Given the description of an element on the screen output the (x, y) to click on. 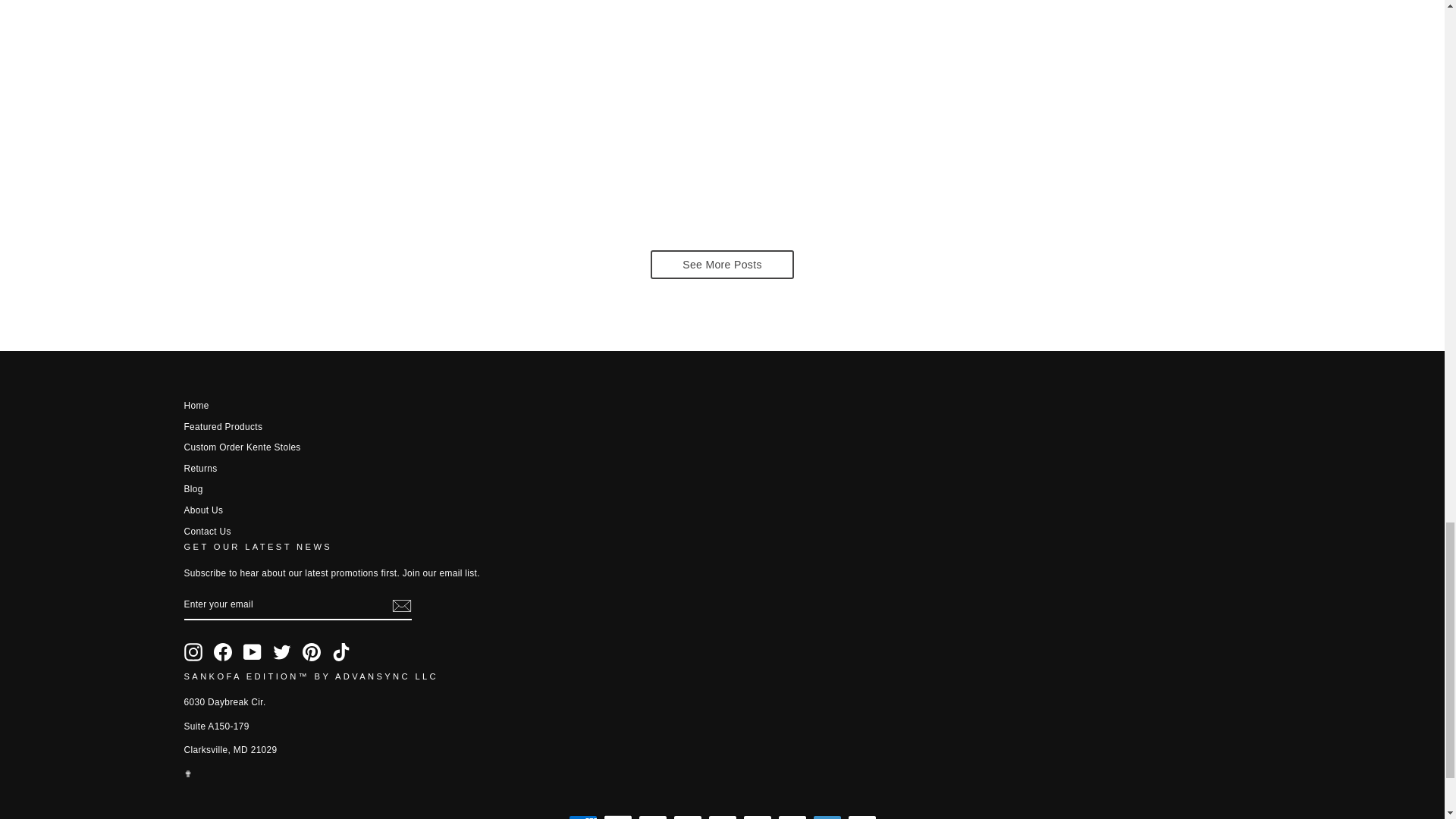
instagram (192, 651)
Apple Pay (617, 816)
Google Pay (721, 816)
twitter (282, 651)
PayPal (791, 816)
Discover (686, 816)
icon-email (400, 605)
American Express (582, 816)
Mastercard (756, 816)
Diners Club (652, 816)
